Given the description of an element on the screen output the (x, y) to click on. 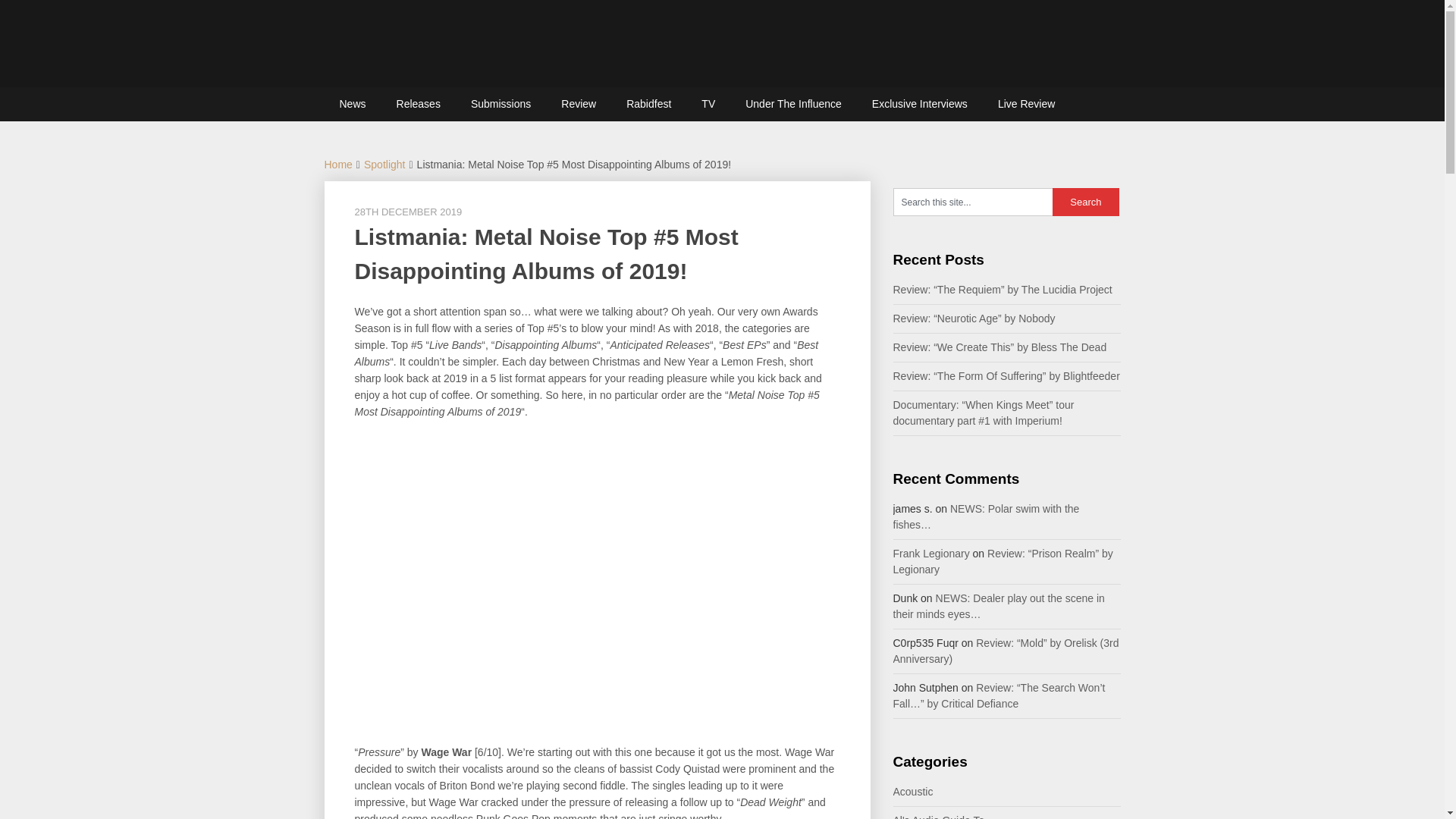
Search this site... (972, 202)
Exclusive Interviews (919, 103)
Live Review (1026, 103)
Rabidfest (648, 103)
Under The Influence (793, 103)
Search (1085, 202)
News (352, 103)
Submissions (500, 103)
Search (1085, 202)
Releases (418, 103)
